Given the description of an element on the screen output the (x, y) to click on. 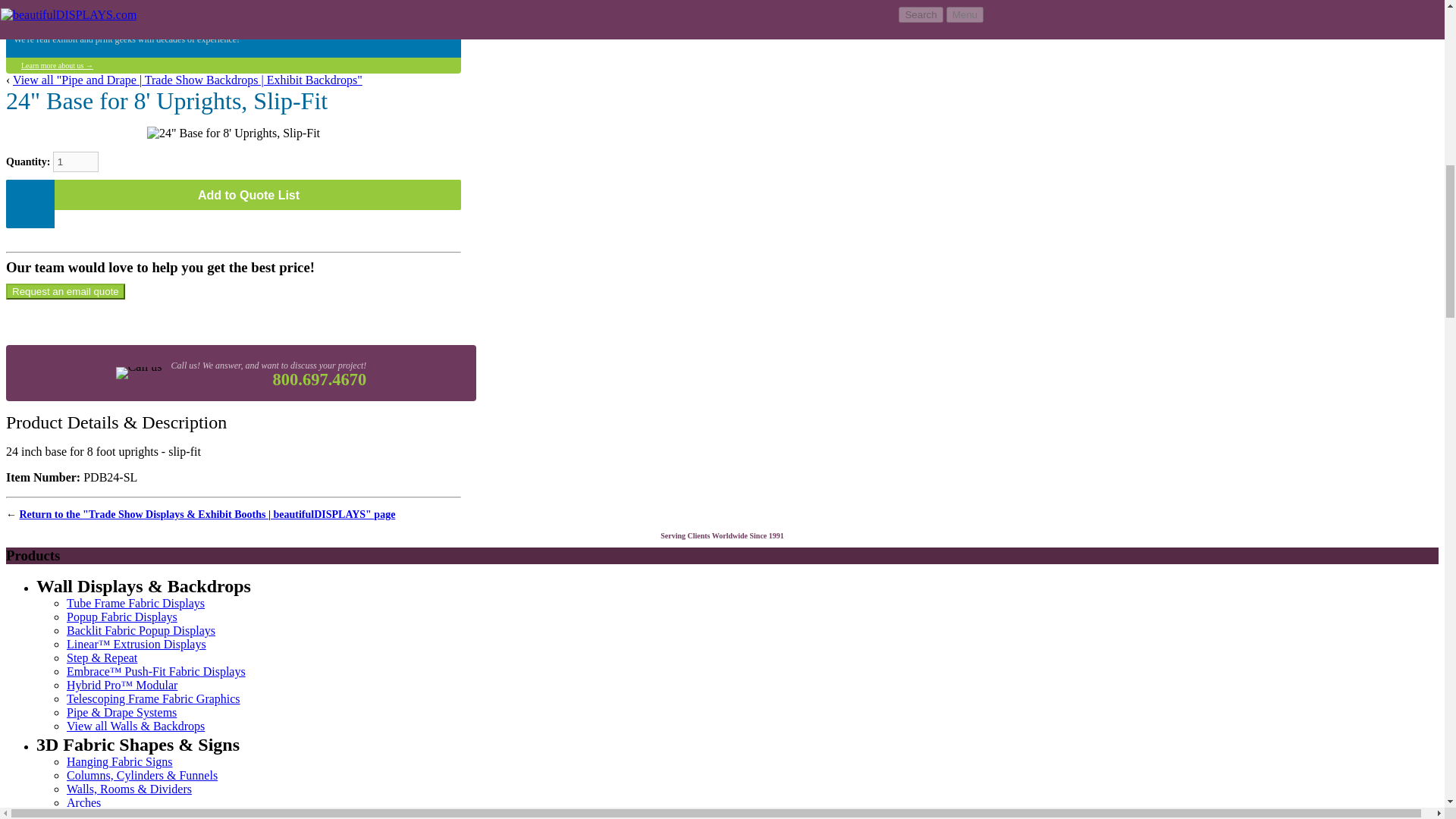
Popup Fabric Displays (121, 616)
Add to Quote List (233, 194)
Call us (138, 373)
Request an email quote (65, 291)
add this item to your email quote request list (233, 194)
24" Base for 8' Uprights, Slip-Fit (233, 133)
Backlit Fabric Popup Displays (140, 630)
1 (75, 161)
Tube Frame Fabric Displays (135, 603)
email quote request (65, 291)
